Given the description of an element on the screen output the (x, y) to click on. 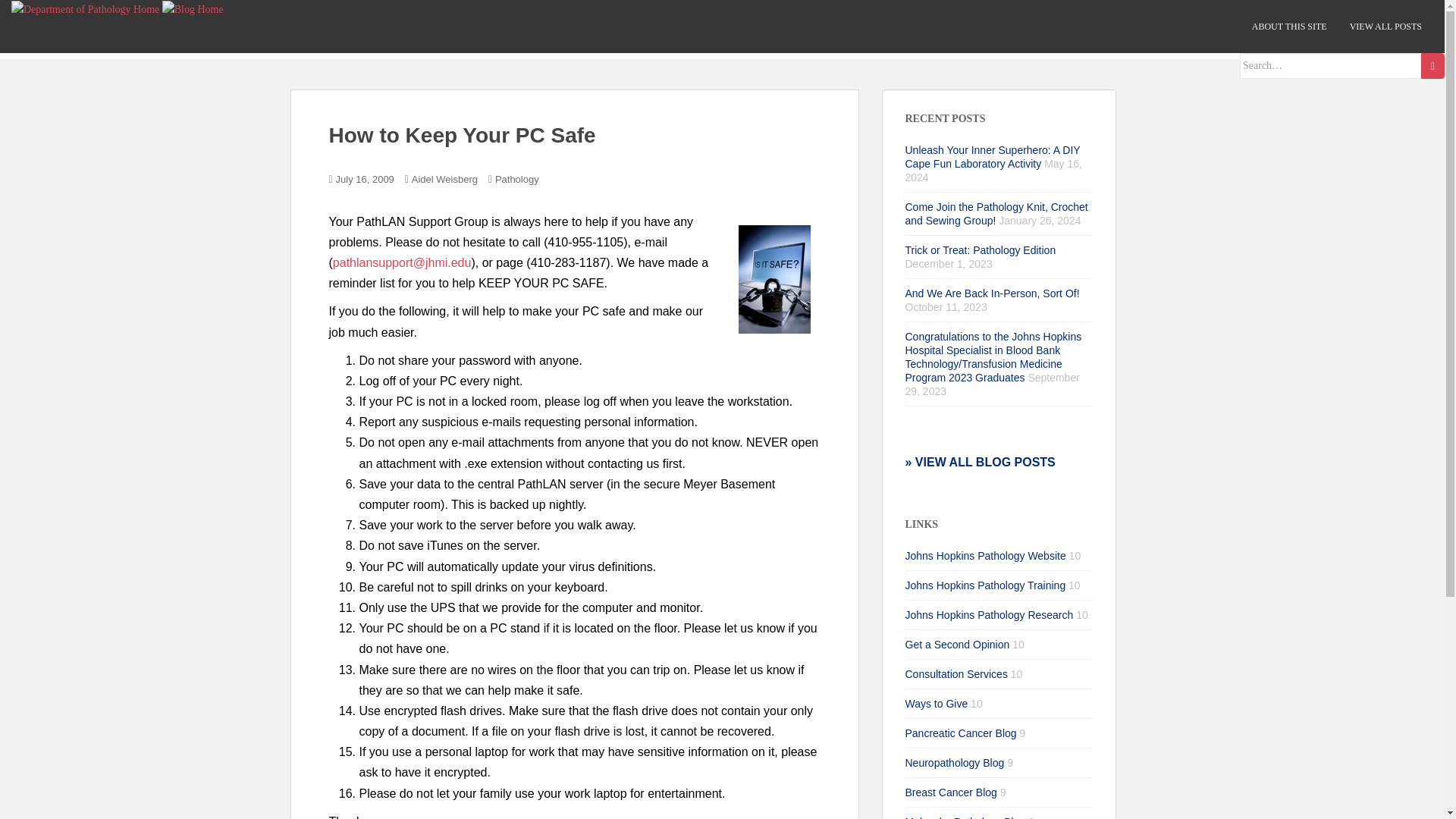
VIEW ALL POSTS (1385, 26)
Ways to Give (936, 703)
Aidel Weisberg (444, 179)
Pathology (516, 179)
Breast Cancer Blog (951, 792)
Johns Hopkins Pathology Training (985, 585)
Johns Hopkins Pathology Research (989, 614)
Is It Safe??? (772, 279)
Consultation Services (956, 674)
Neuropathology Blog (954, 762)
Pancreatic Cancer Blog (960, 733)
Molecular Pathology Blog (965, 817)
Come Join the Pathology Knit, Crochet and Sewing Group! (996, 213)
Department of Pathology Home (84, 9)
